Given the description of an element on the screen output the (x, y) to click on. 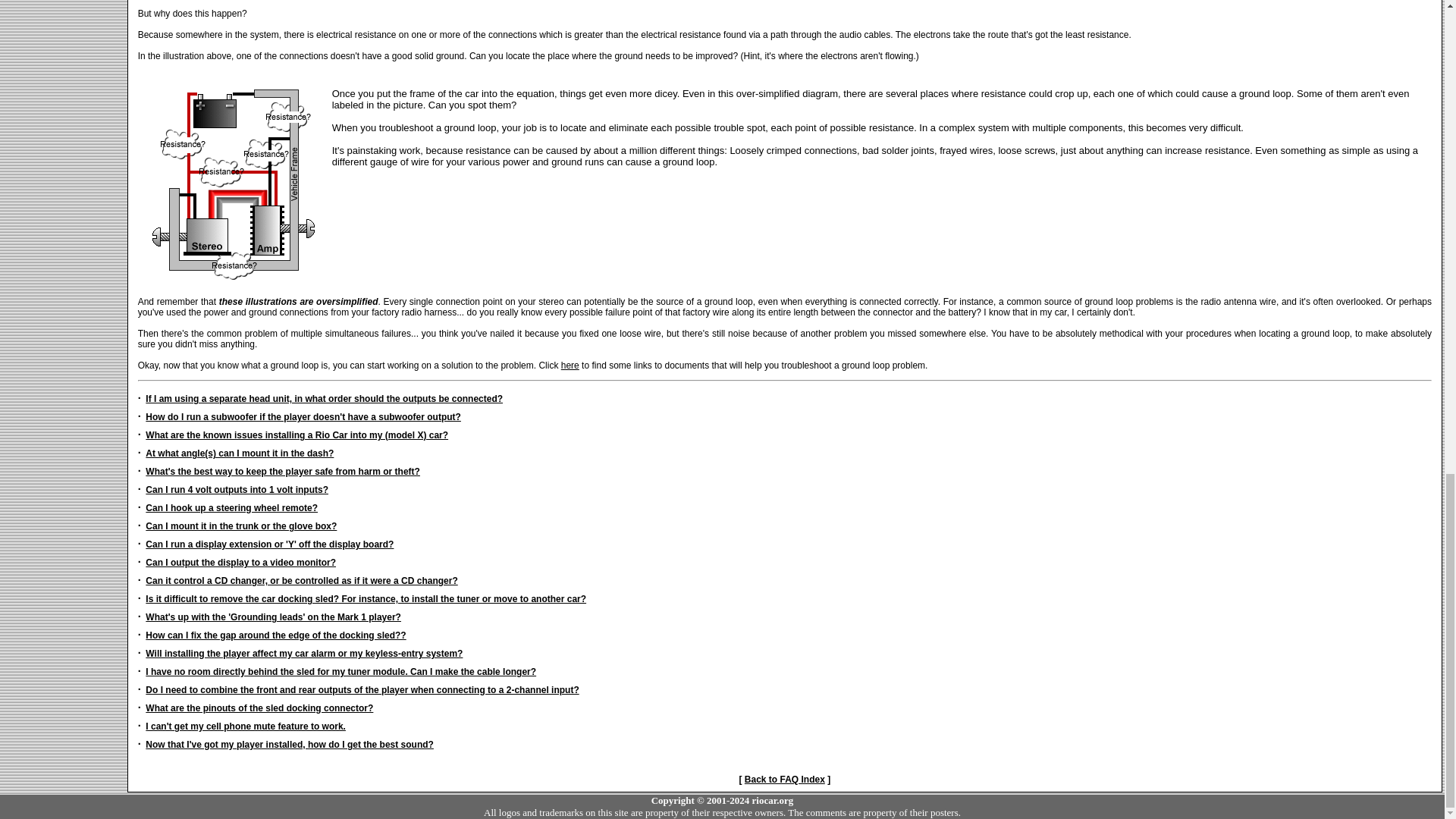
Can I output the display to a video monitor? (240, 562)
Can I mount it in the trunk or the glove box? (240, 525)
here (569, 365)
Can I run a display extension or 'Y' off the display board? (269, 543)
Can I run 4 volt outputs into 1 volt inputs? (237, 489)
Can I hook up a steering wheel remote? (231, 507)
